Given the description of an element on the screen output the (x, y) to click on. 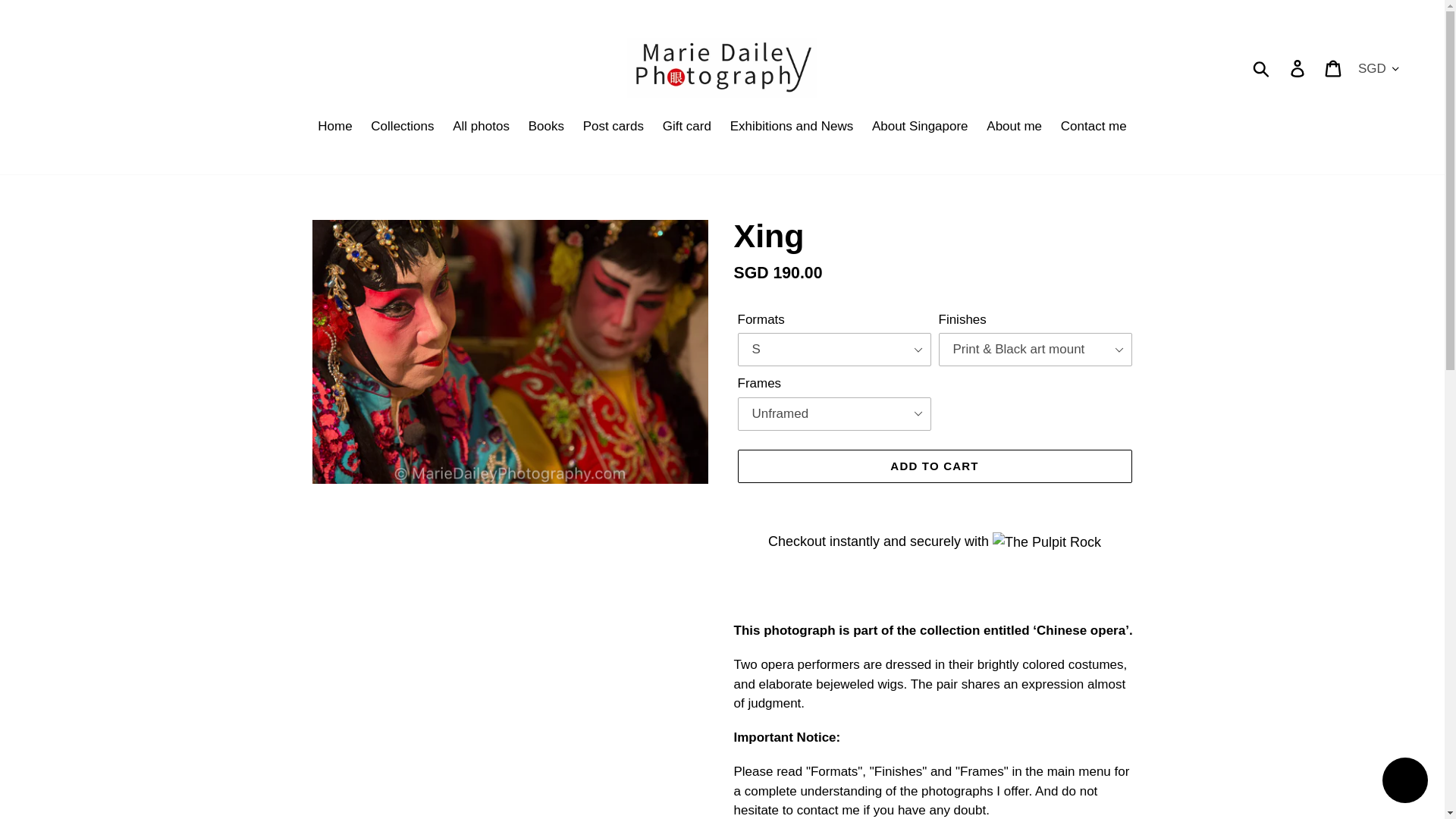
Log in (1298, 67)
Shopify online store chat (1404, 781)
Contact me (1093, 127)
All photos (480, 127)
Gift card (687, 127)
Books (546, 127)
Cart (1334, 67)
About Singapore (919, 127)
Submit (1262, 68)
Home (334, 127)
About me (1013, 127)
Post cards (612, 127)
Exhibitions and News (791, 127)
ADD TO CART (933, 466)
Collections (401, 127)
